Given the description of an element on the screen output the (x, y) to click on. 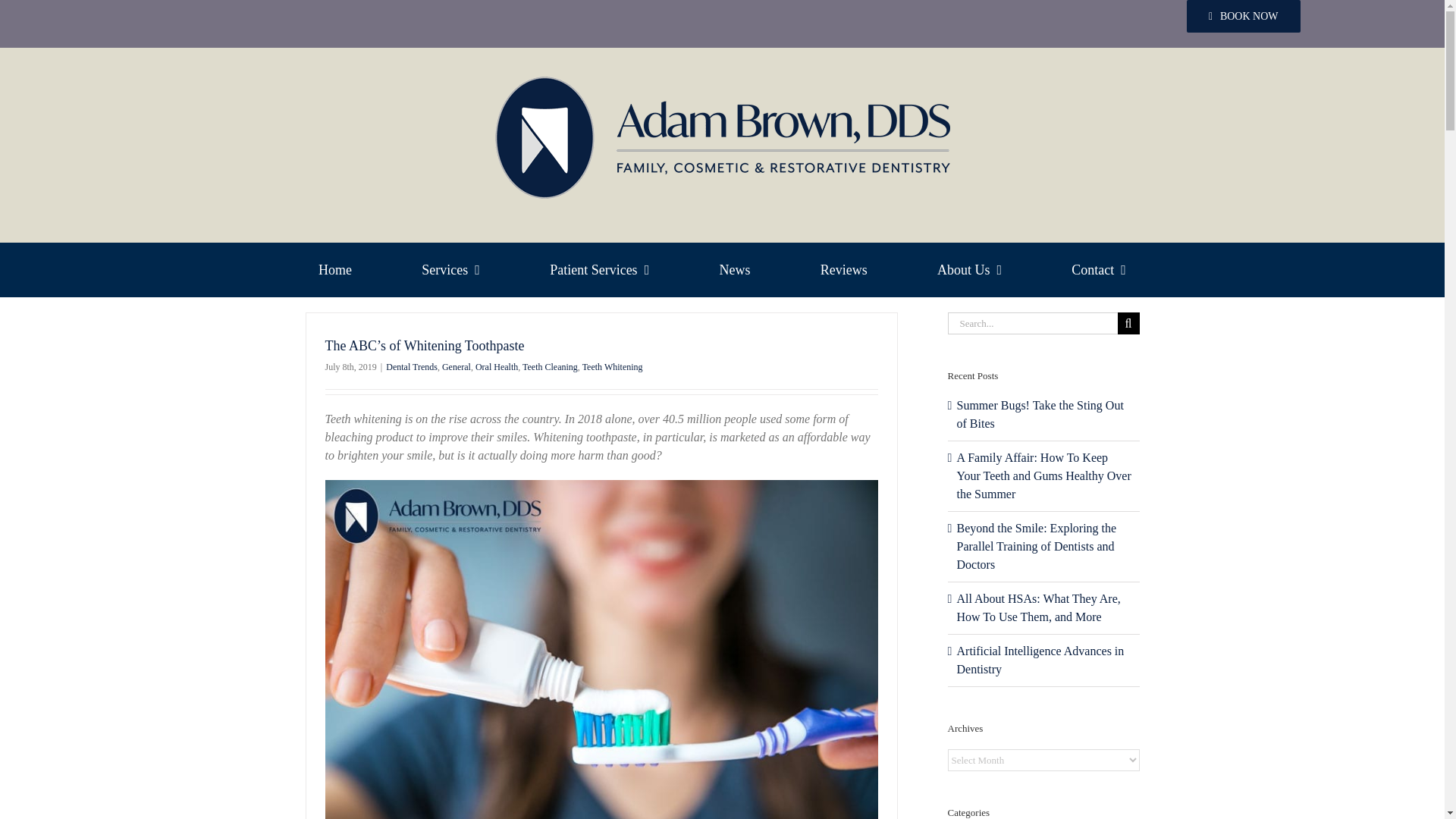
BOOK NOW (1243, 16)
